Given the description of an element on the screen output the (x, y) to click on. 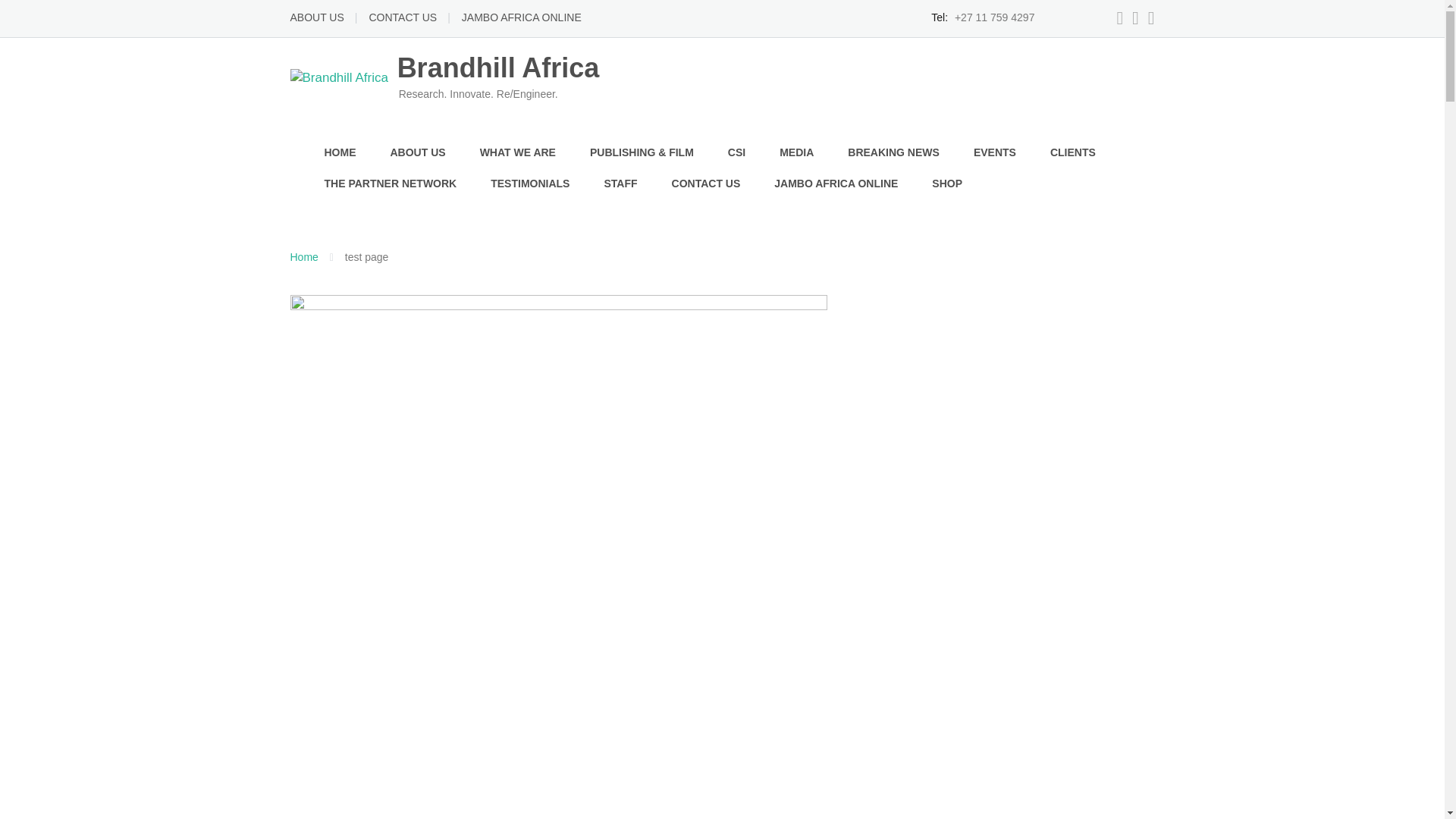
CLIENTS (1072, 152)
THE PARTNER NETWORK (390, 183)
STAFF (620, 183)
EVENTS (995, 152)
ABOUT US (316, 17)
ABOUT US (417, 152)
TESTIMONIALS (529, 183)
CONTACT US (402, 17)
Home (303, 256)
Brandhill Africa (443, 76)
BREAKING NEWS (893, 152)
MEDIA (795, 152)
Brandhill Africa (303, 256)
WHAT WE ARE (518, 152)
JAMBO AFRICA ONLINE (520, 17)
